Given the description of an element on the screen output the (x, y) to click on. 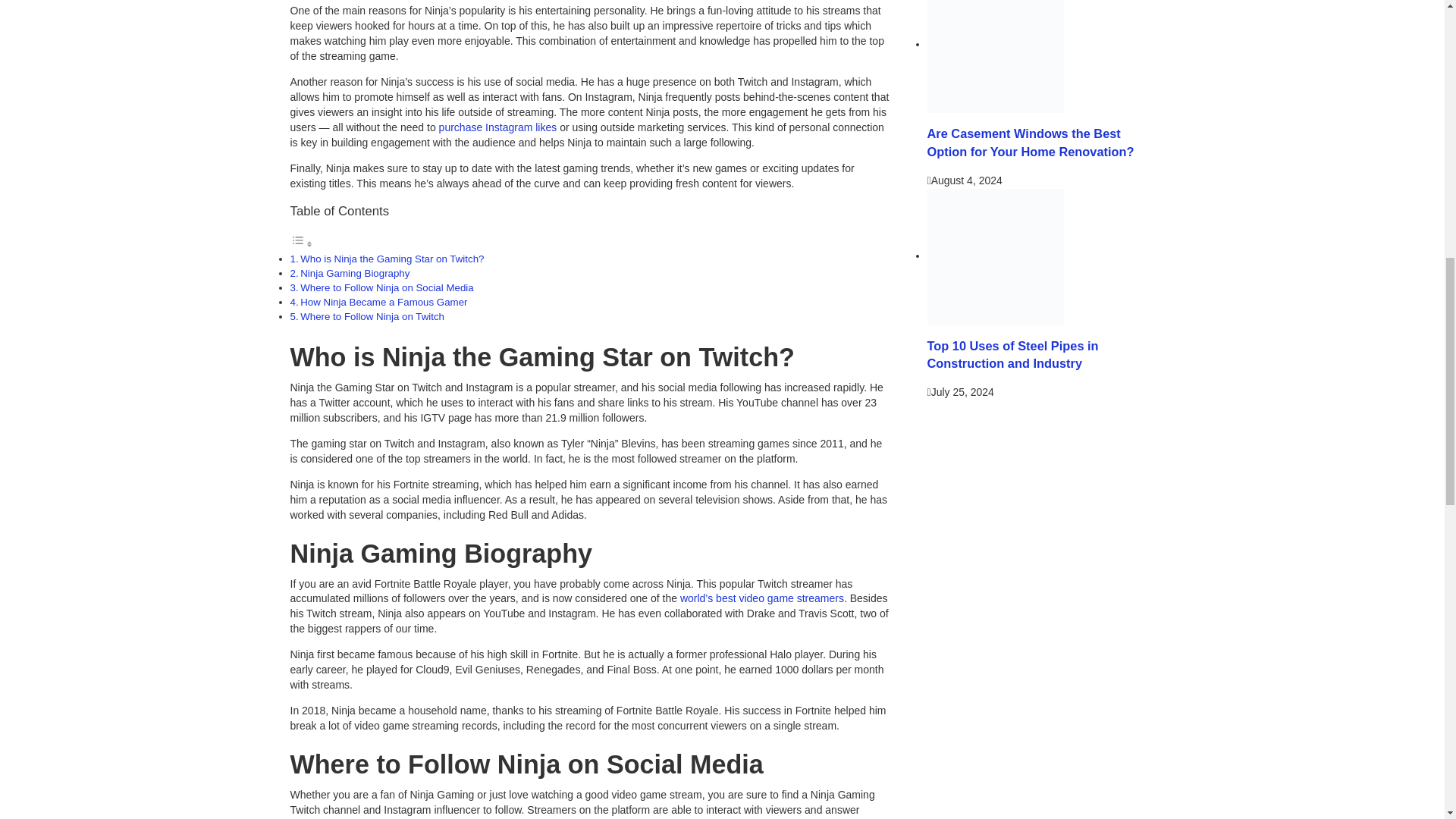
Ninja Gaming Biography (354, 273)
Where to Follow Ninja on Twitch (371, 316)
Ninja Gaming Biography (354, 273)
purchase Instagram likes (498, 127)
Where to Follow Ninja on Twitch (371, 316)
How Ninja Became a Famous Gamer (383, 301)
Who is Ninja the Gaming Star on Twitch? (391, 258)
Where to Follow Ninja on Social Media (386, 287)
How Ninja Became a Famous Gamer (383, 301)
Where to Follow Ninja on Social Media (386, 287)
